Given the description of an element on the screen output the (x, y) to click on. 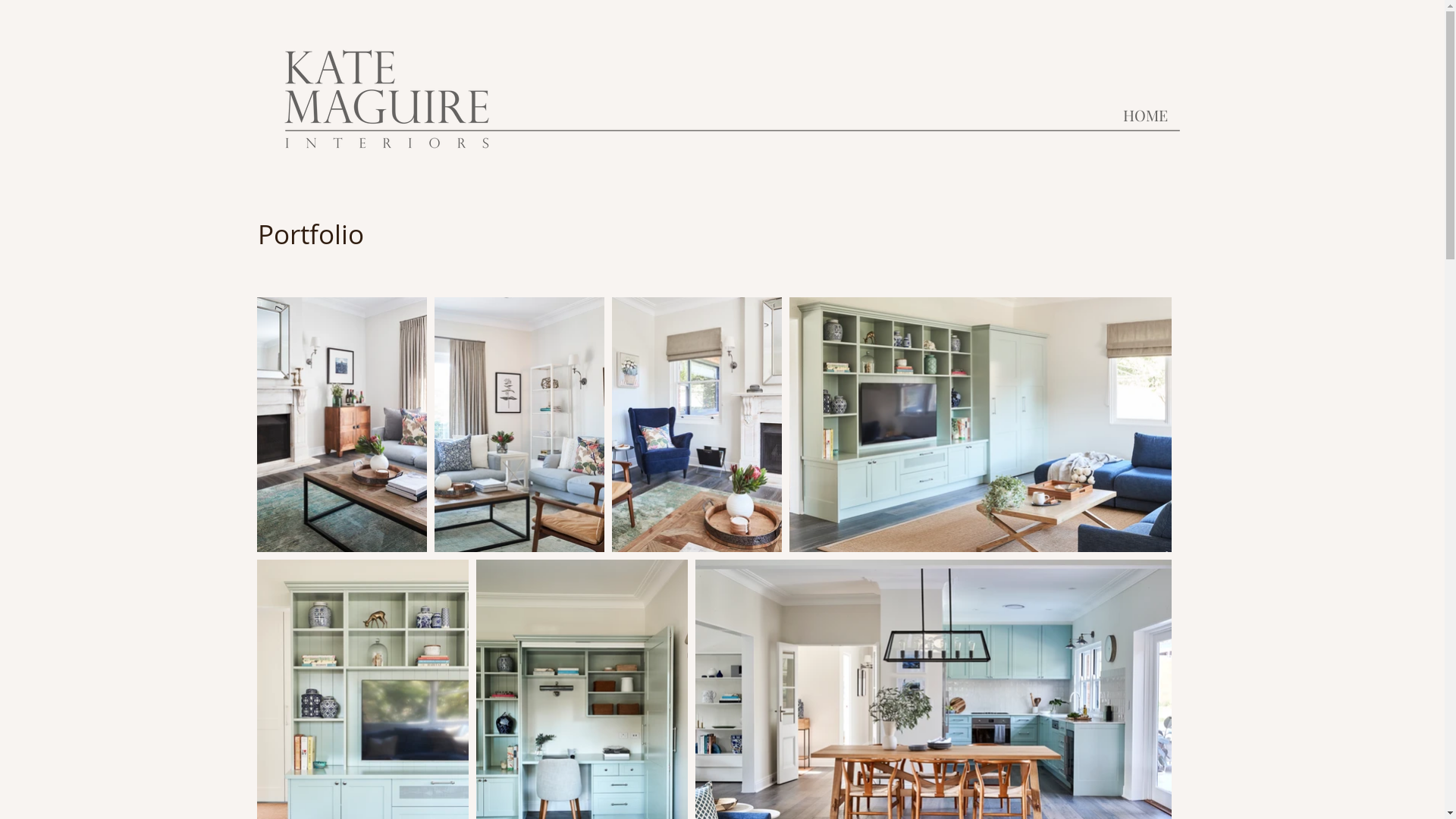
HOME Element type: text (1145, 114)
